Given the description of an element on the screen output the (x, y) to click on. 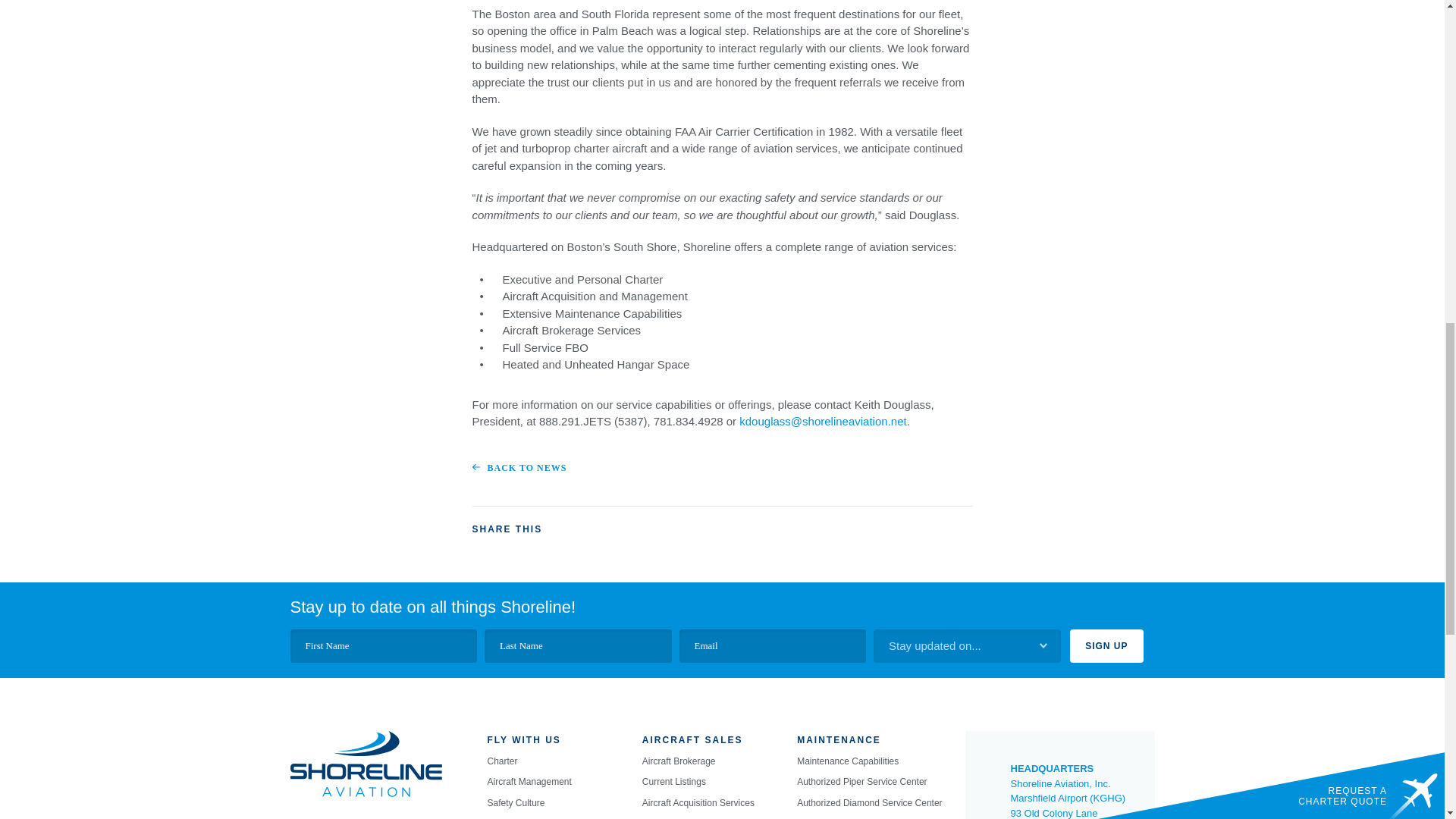
Sign Up (1106, 645)
